Given the description of an element on the screen output the (x, y) to click on. 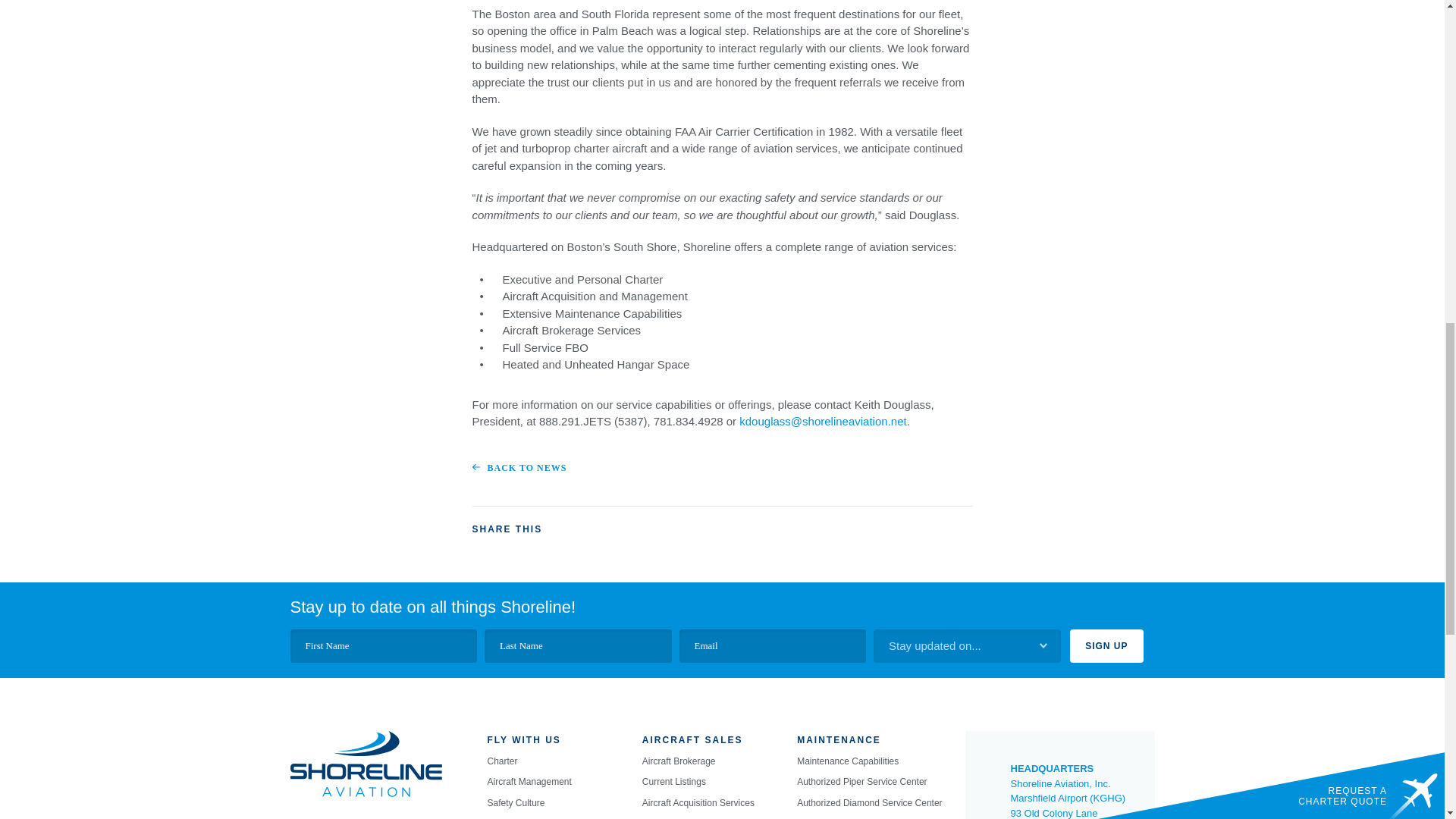
Sign Up (1106, 645)
